Given the description of an element on the screen output the (x, y) to click on. 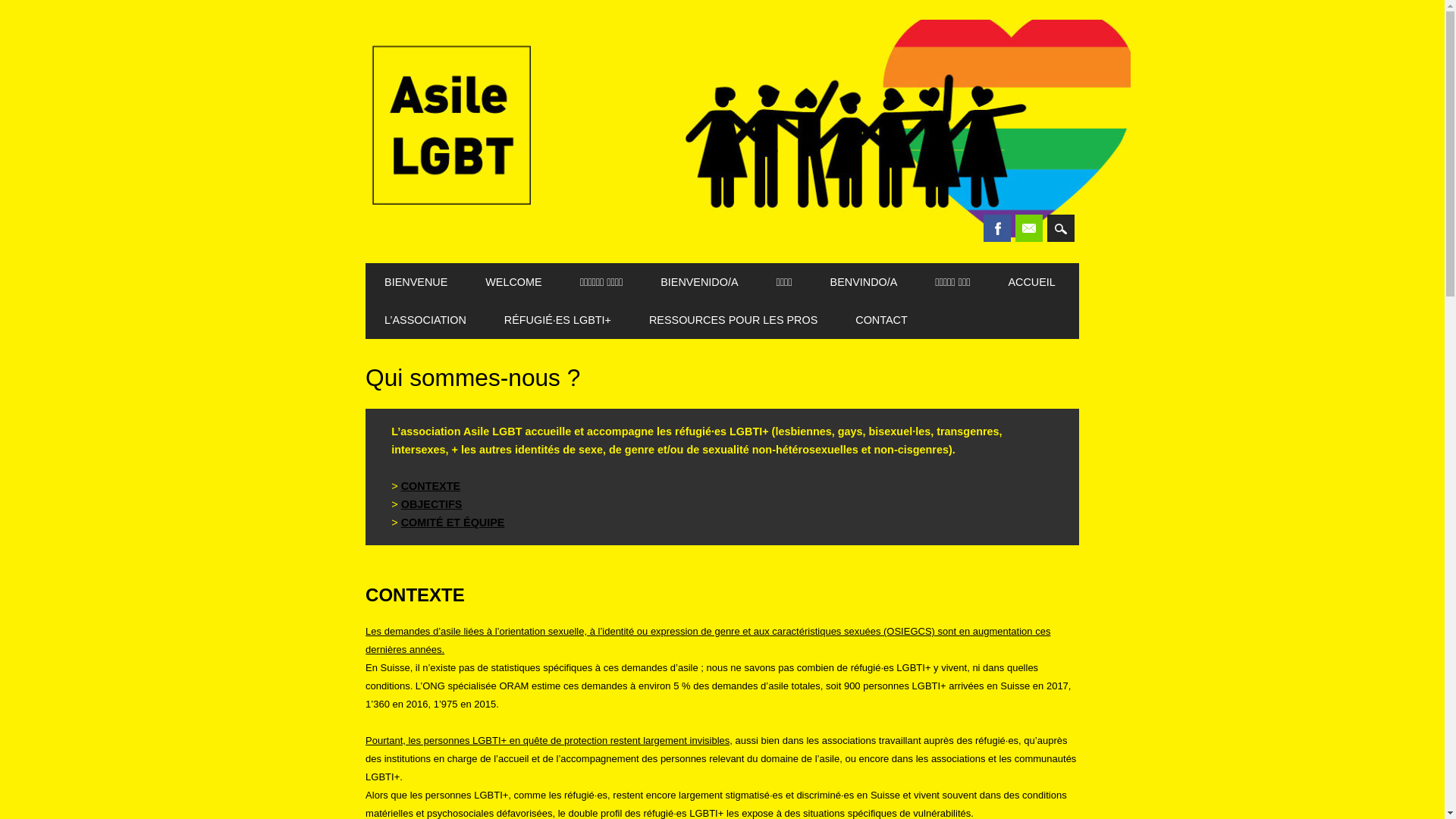
Asile LGBT Element type: hover (748, 235)
BIENVENUE Element type: text (415, 282)
OBJECTIFS Element type: text (431, 504)
WELCOME Element type: text (513, 282)
BENVINDO/A Element type: text (863, 282)
CONTACT Element type: text (880, 319)
BIENVENIDO/A Element type: text (698, 282)
RESSOURCES POUR LES PROS Element type: text (733, 319)
CONTEXTE Element type: text (430, 486)
ACCUEIL Element type: text (1030, 282)
Facebook Element type: text (996, 227)
Email Element type: text (1028, 227)
